Given the description of an element on the screen output the (x, y) to click on. 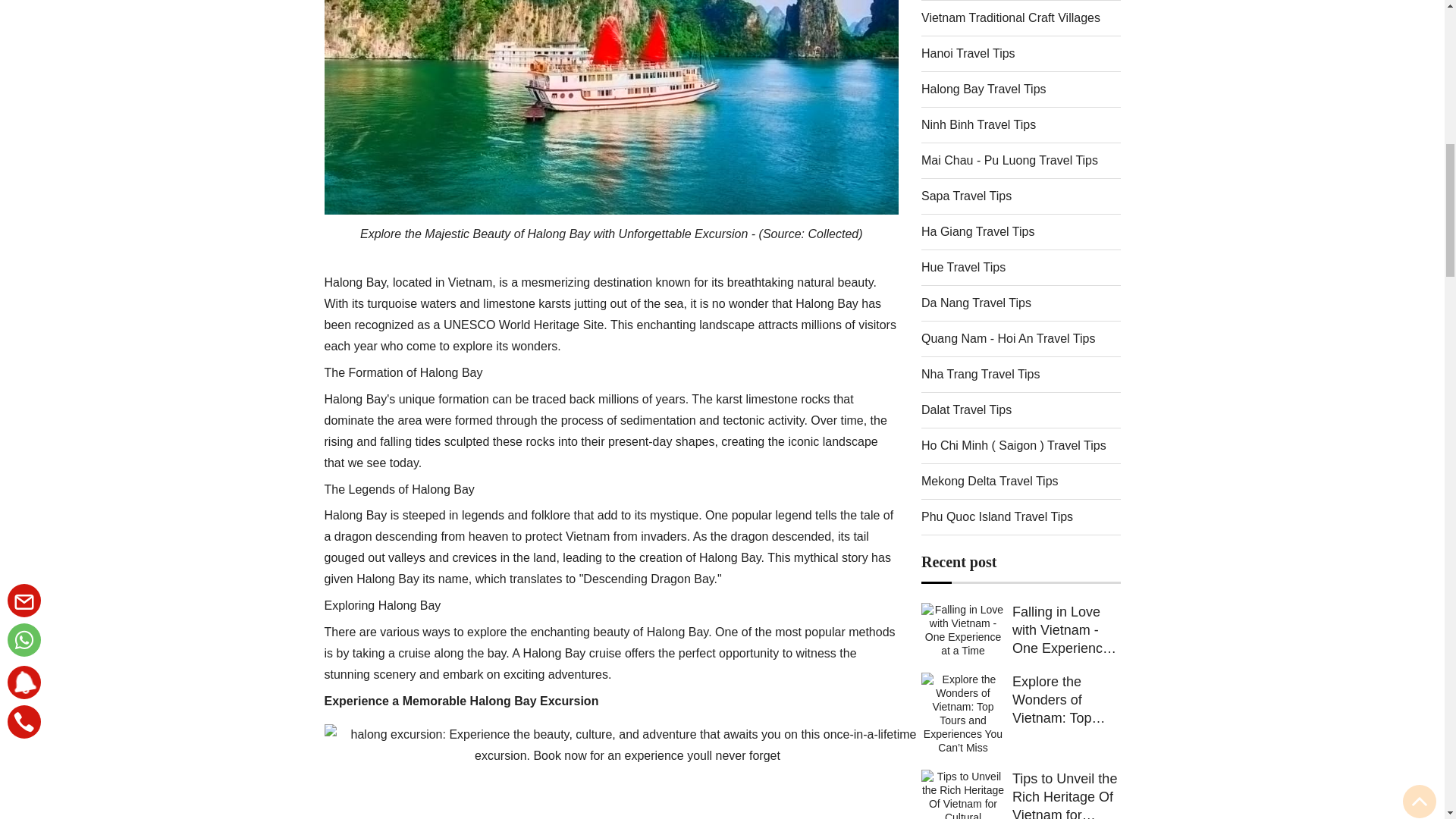
Falling in Love with Vietnam - One Experience at a Time (962, 650)
